Given the description of an element on the screen output the (x, y) to click on. 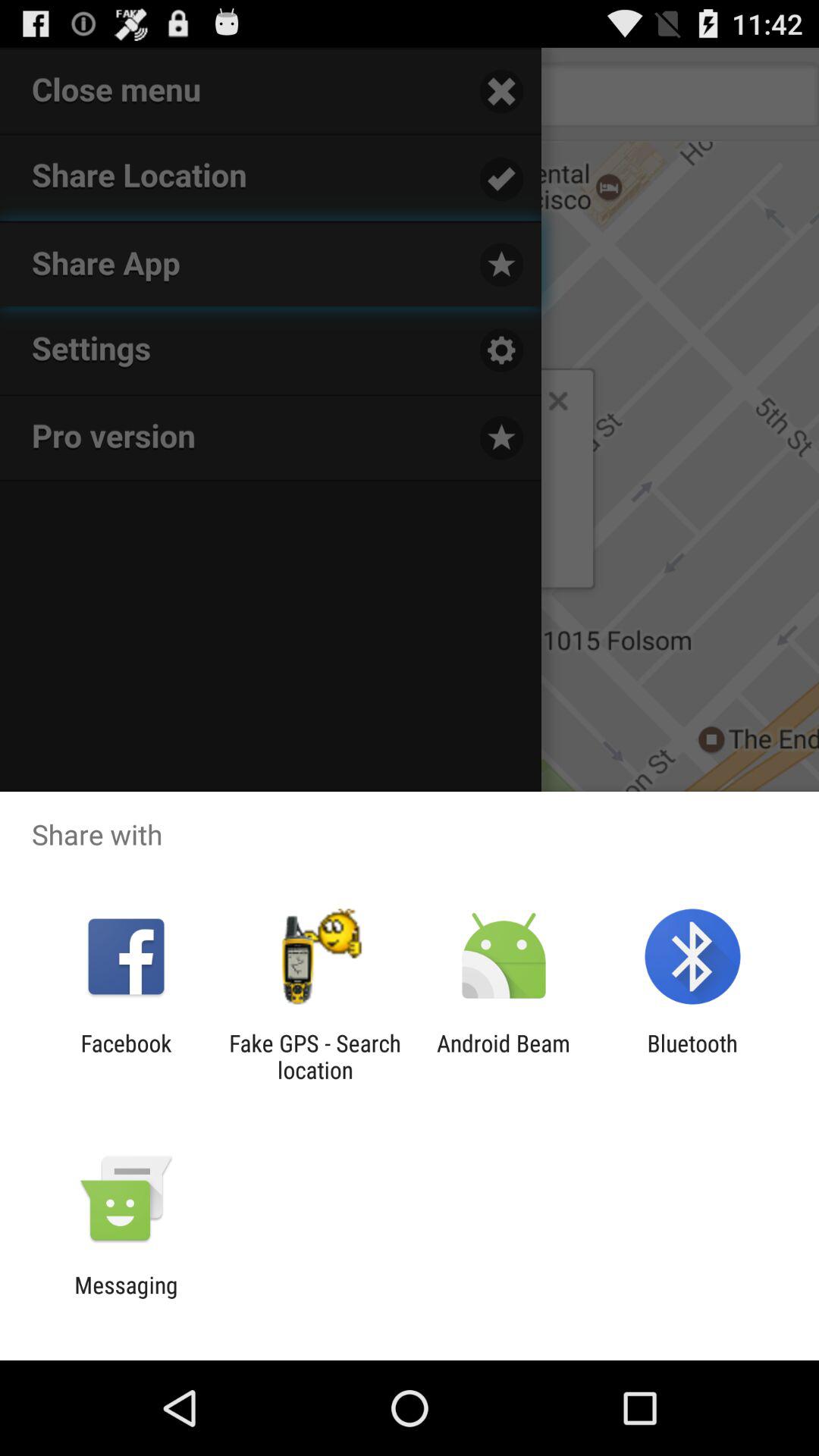
jump to the facebook (125, 1056)
